Given the description of an element on the screen output the (x, y) to click on. 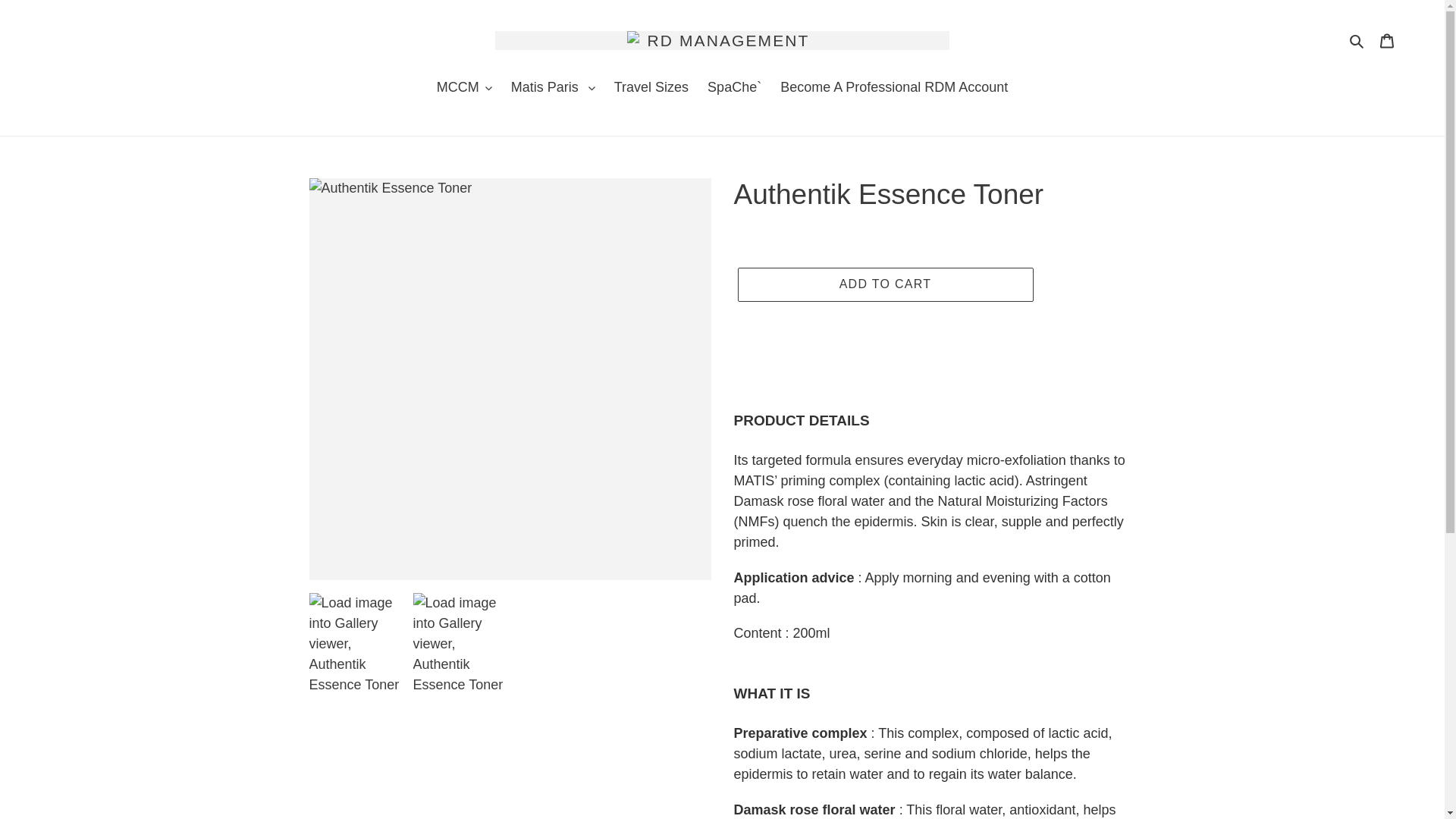
Search (1357, 40)
Cart (1387, 40)
